Given the description of an element on the screen output the (x, y) to click on. 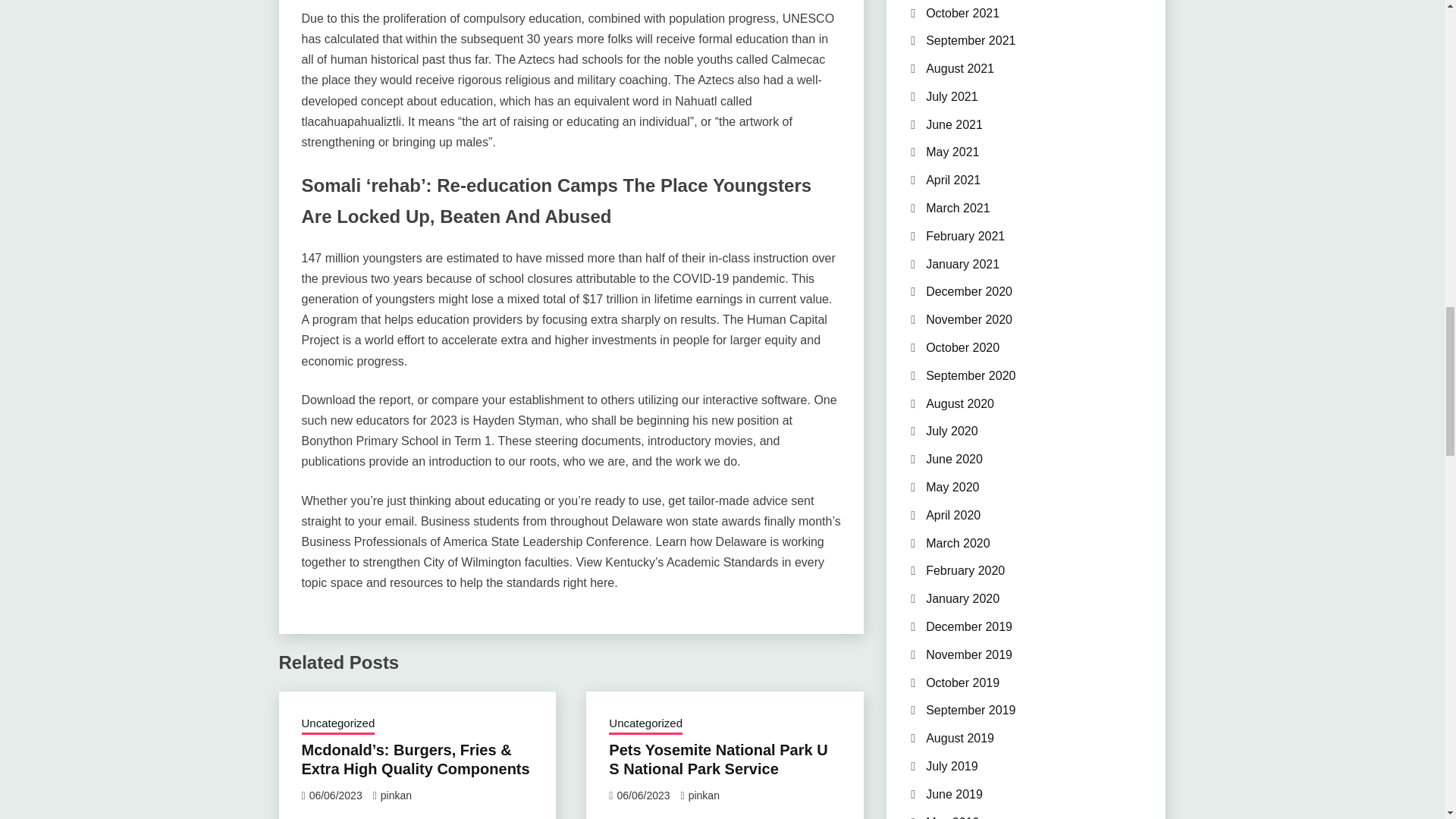
pinkan (703, 795)
Pets Yosemite National Park U S National Park Service (717, 759)
Uncategorized (338, 724)
pinkan (396, 795)
Uncategorized (645, 724)
